Given the description of an element on the screen output the (x, y) to click on. 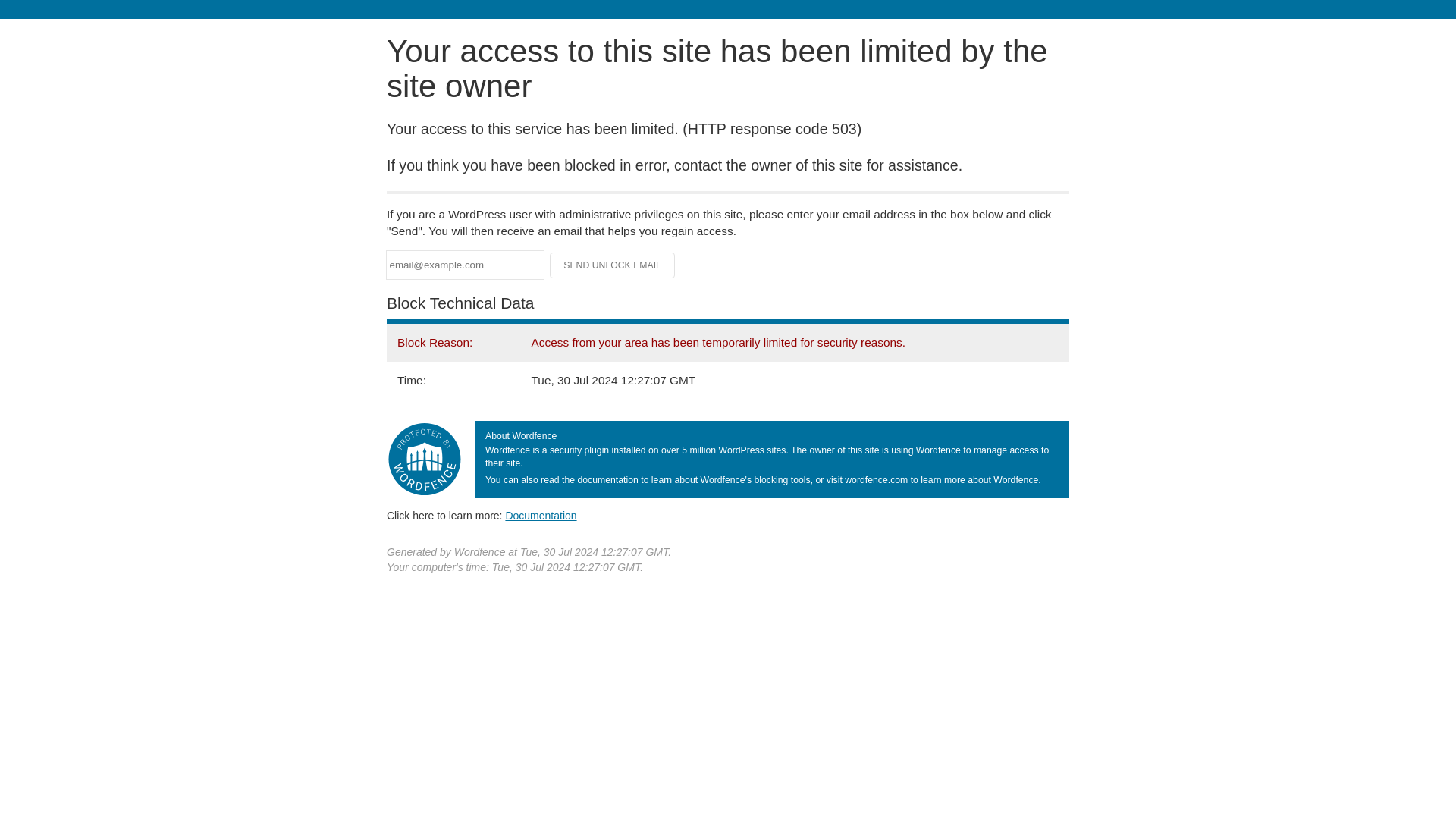
Send Unlock Email (612, 265)
Documentation (540, 515)
Send Unlock Email (612, 265)
